Given the description of an element on the screen output the (x, y) to click on. 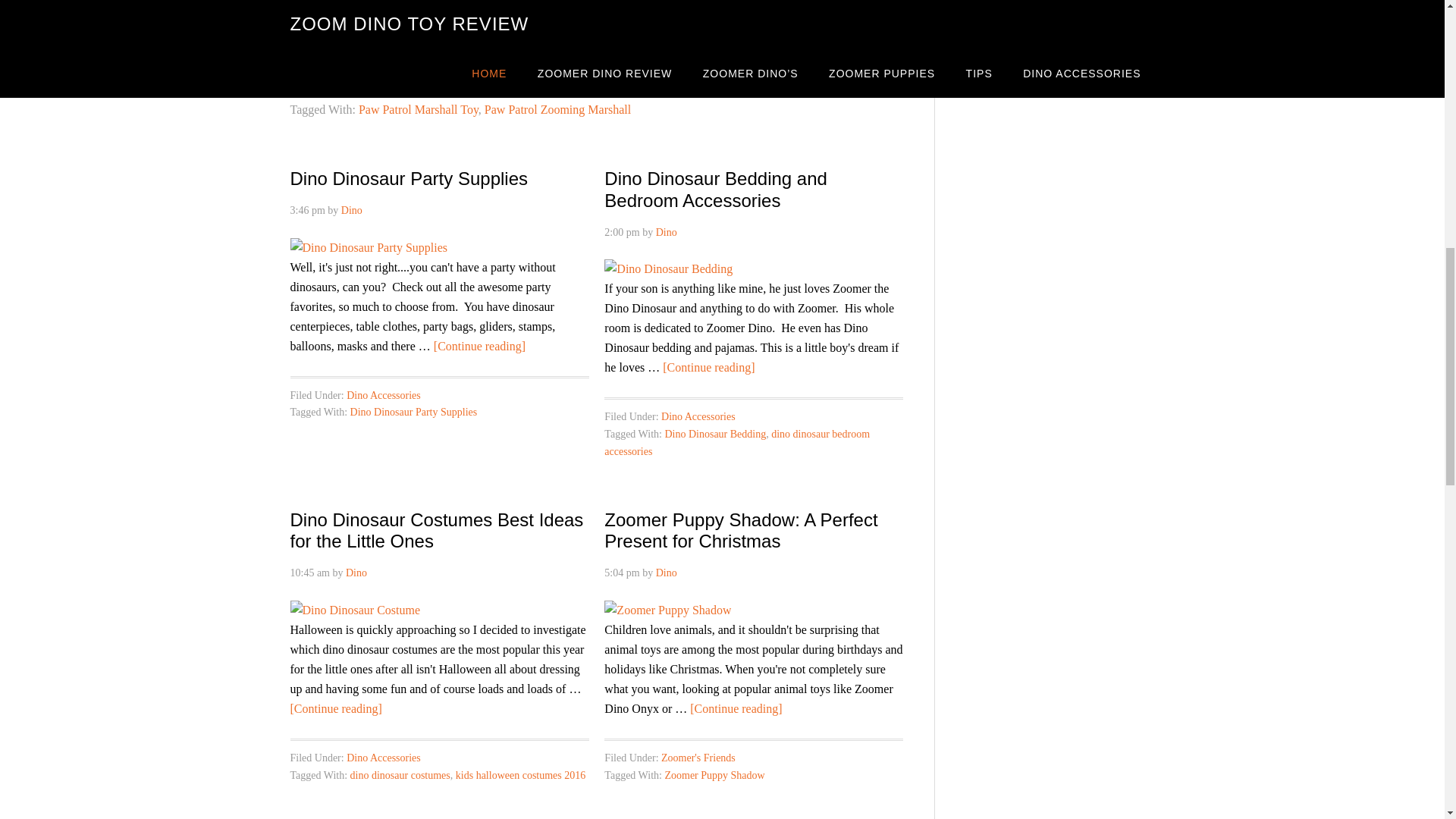
Dino Dinosaur Bedding and Bedroom Accessories (715, 189)
Dino Accessories (698, 416)
Paw Patrol Zooming Marshall (557, 109)
Dino Dinosaur Party Supplies (408, 178)
Dino Dinosaur Costumes Best Ideas for the Little Ones (436, 530)
Dino Accessories (383, 757)
Dino Dinosaur Bedding (714, 433)
dino dinosaur bedroom accessories (736, 442)
Dino (351, 210)
Dino (356, 572)
